Given the description of an element on the screen output the (x, y) to click on. 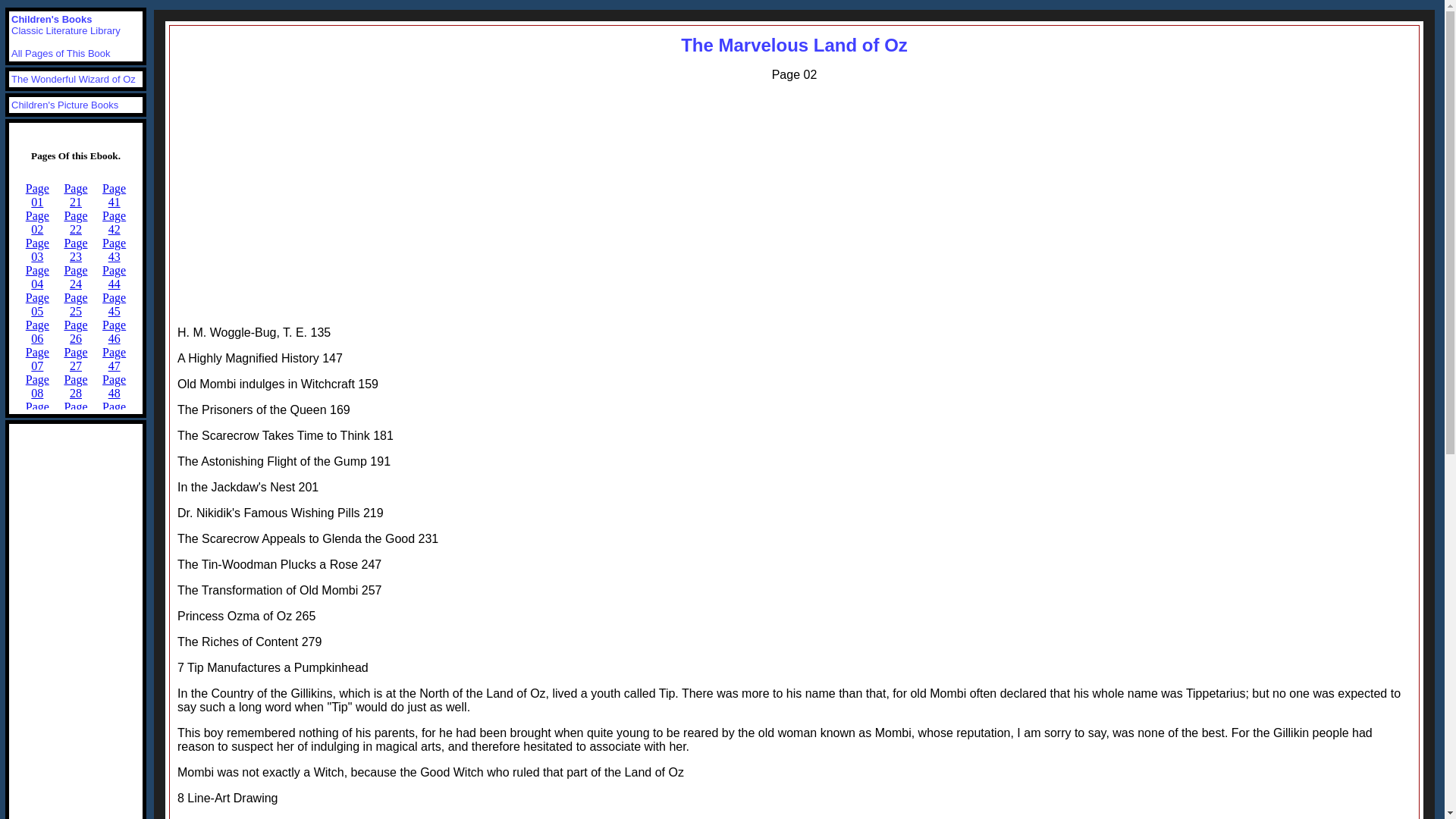
Children's Books (51, 19)
Classic Literature Library (65, 30)
The Marvelous Land of Oz (794, 45)
All Pages of This Book (60, 52)
Children's Picture Books (64, 104)
The Wonderful Wizard of Oz (73, 79)
